Given the description of an element on the screen output the (x, y) to click on. 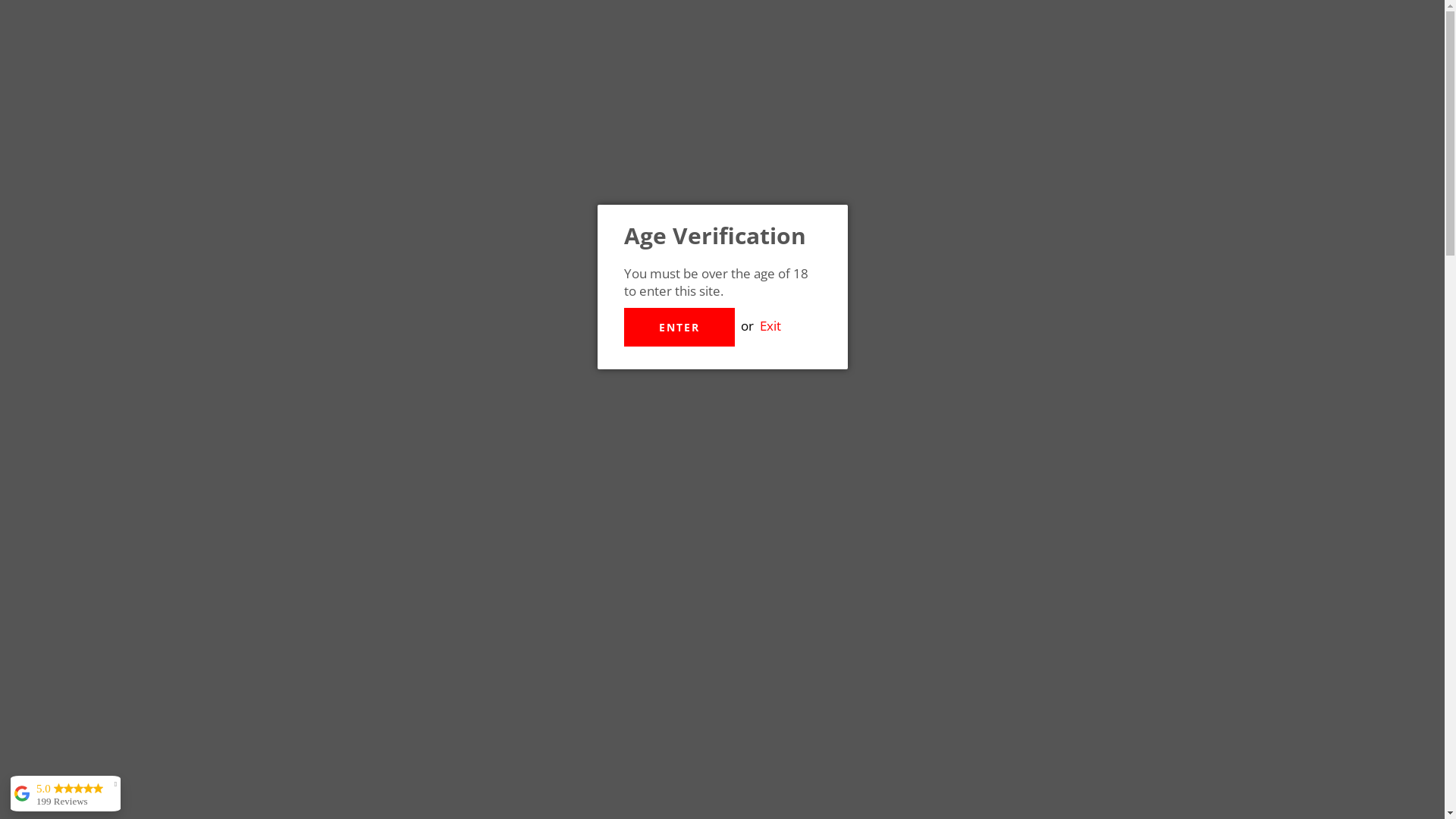
Exit Element type: text (770, 325)
Check out our LATEST ARRIVALS! Click Here Element type: text (721, 191)
SALE Element type: text (1112, 151)
MALAY JUICE Element type: text (684, 151)
Close Element type: text (1138, 191)
View all products Element type: text (424, 556)
ENTER Element type: text (678, 326)
UK / EU JUICE Element type: text (448, 151)
BOGAN BREWS Element type: text (721, 706)
DEVICES Element type: text (902, 151)
REDBACK JUICE CO Element type: text (558, 511)
ACCESSORIES Element type: text (1016, 151)
FLAVOUR Element type: text (800, 151)
Next slide Element type: text (339, 556)
RIOT SQUAD Element type: text (1010, 706)
USA JUICE Element type: text (567, 151)
Cart Element type: text (1140, 63)
Previous slide Element type: text (303, 556)
AUS JUICE Element type: text (328, 151)
DINNER LADY Element type: text (433, 706)
